Given the description of an element on the screen output the (x, y) to click on. 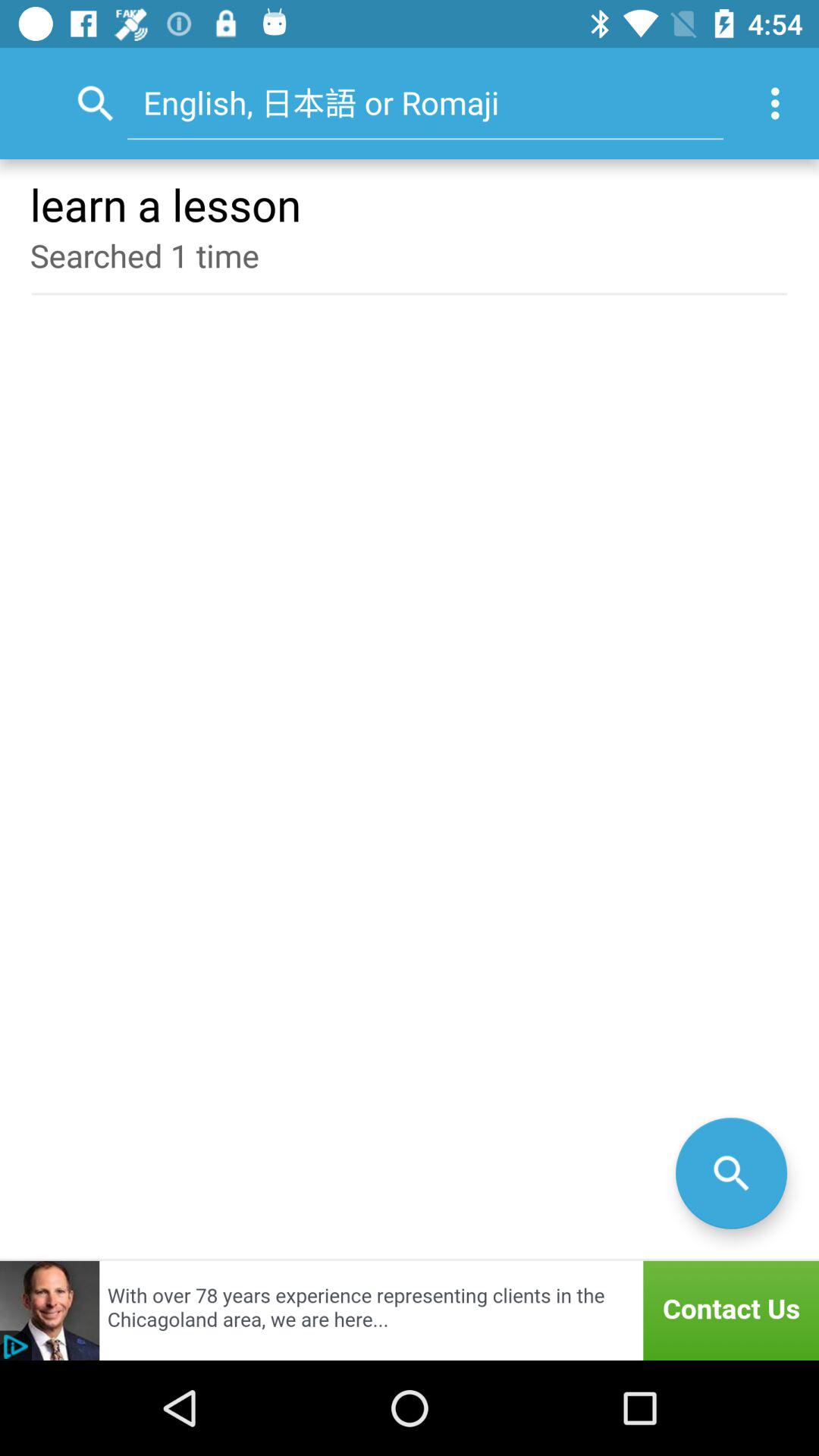
search input (731, 1173)
